Given the description of an element on the screen output the (x, y) to click on. 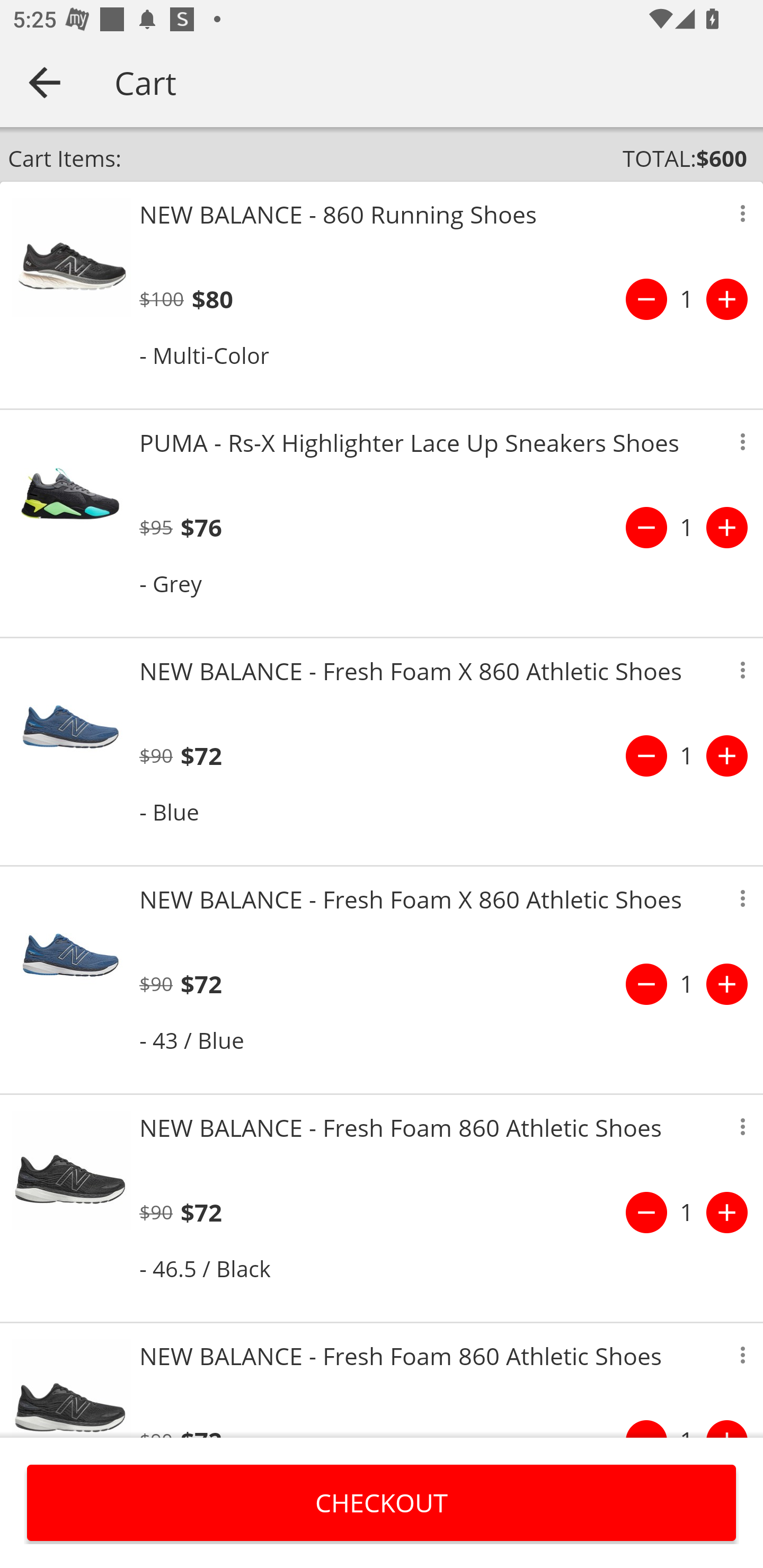
Navigate up (44, 82)
1 (686, 299)
1 (686, 527)
1 (686, 755)
1 (686, 984)
1 (686, 1211)
CHECKOUT (381, 1502)
